Given the description of an element on the screen output the (x, y) to click on. 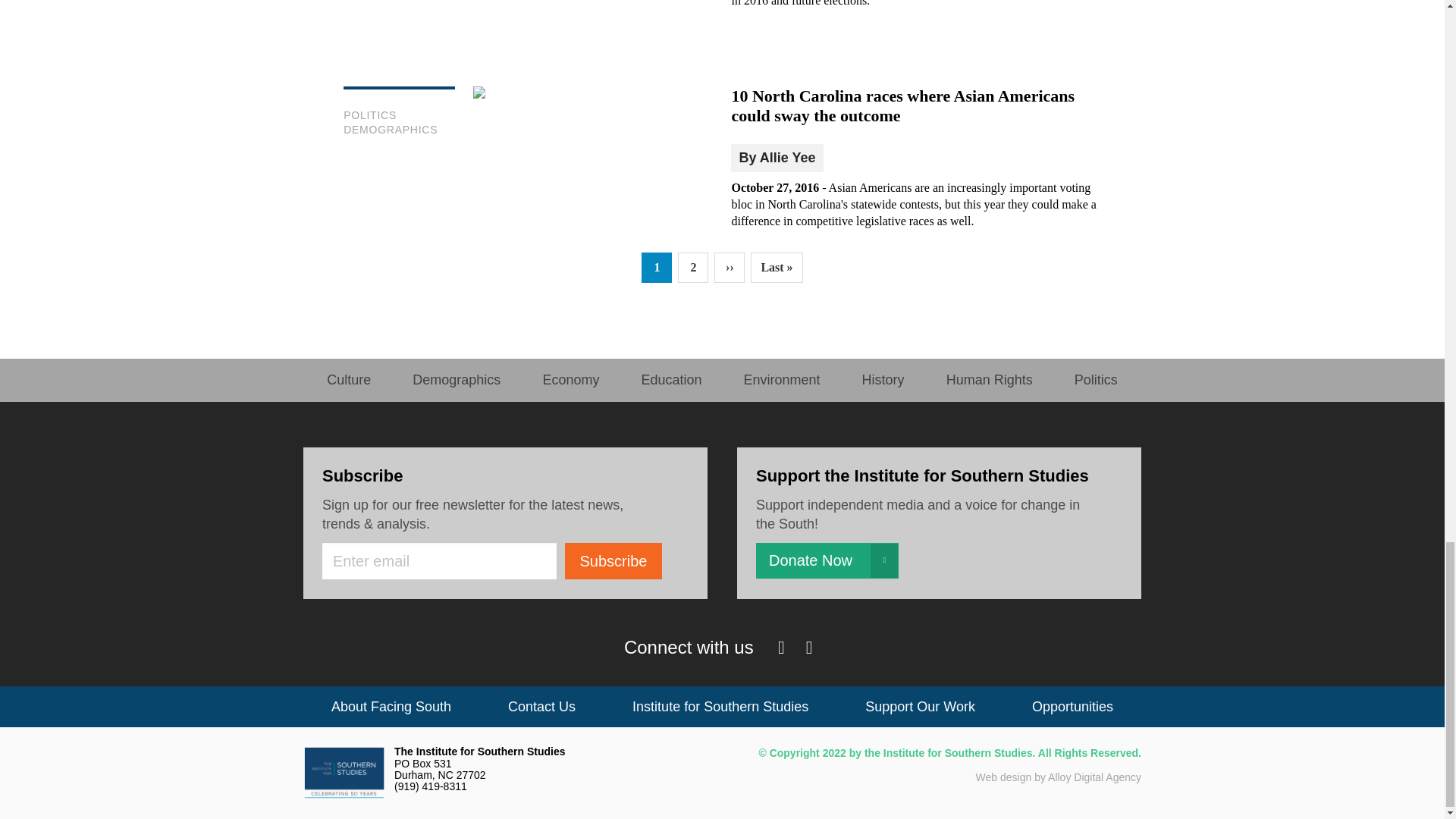
Go to last page (776, 267)
Go to page 2 (692, 267)
Subscribe (613, 560)
Current page (656, 267)
Go to next page (729, 267)
